Given the description of an element on the screen output the (x, y) to click on. 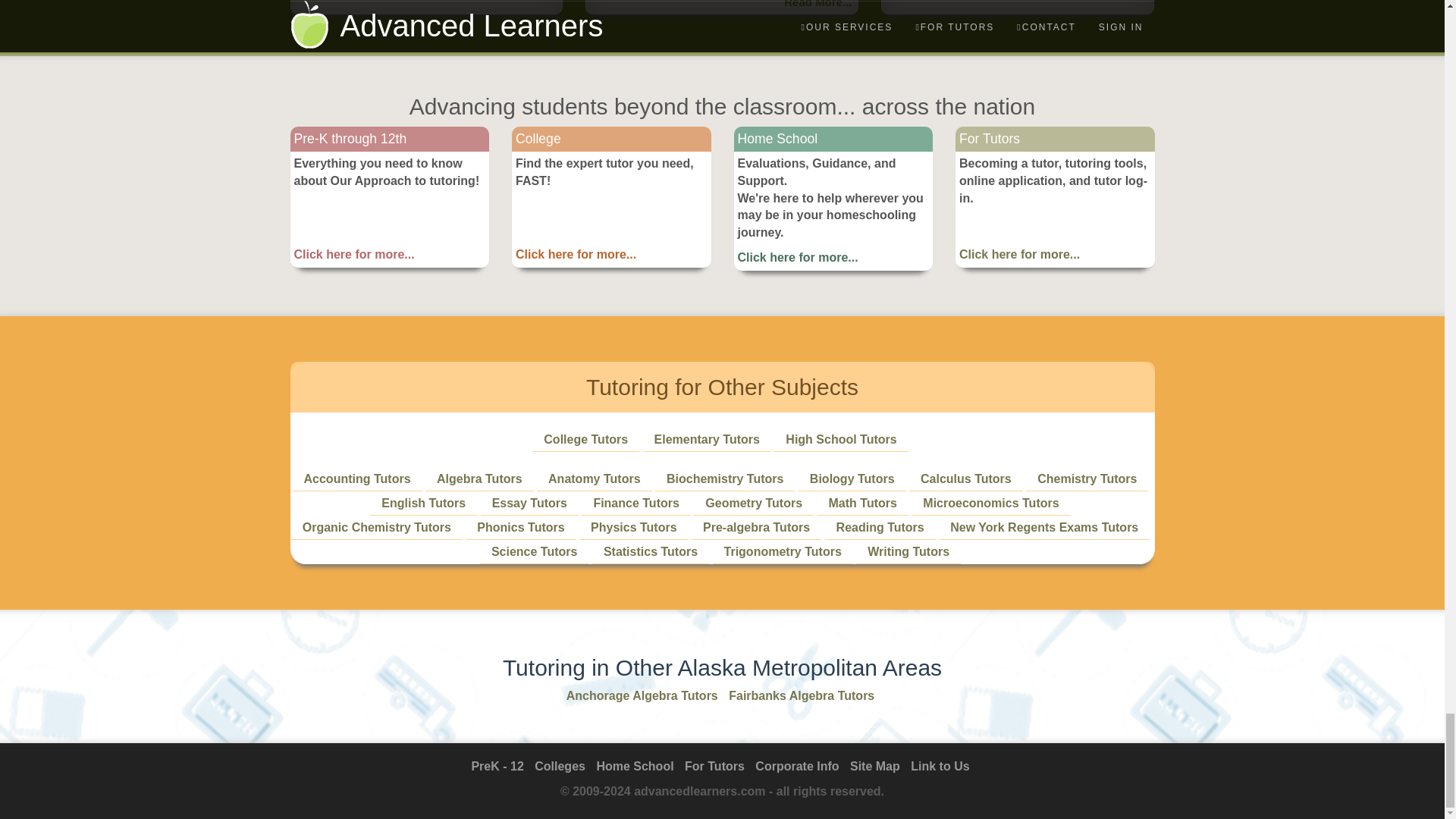
Finance Tutors (635, 502)
Trigonometry Tutors (782, 551)
Calculus Tutors (965, 478)
Algebra Tutors (479, 478)
Essay Tutors (529, 502)
Anchorage Algebra Tutors (641, 695)
Biology Tutors (852, 478)
Biochemistry Tutors (724, 478)
Biology Tutors (852, 478)
